Given the description of an element on the screen output the (x, y) to click on. 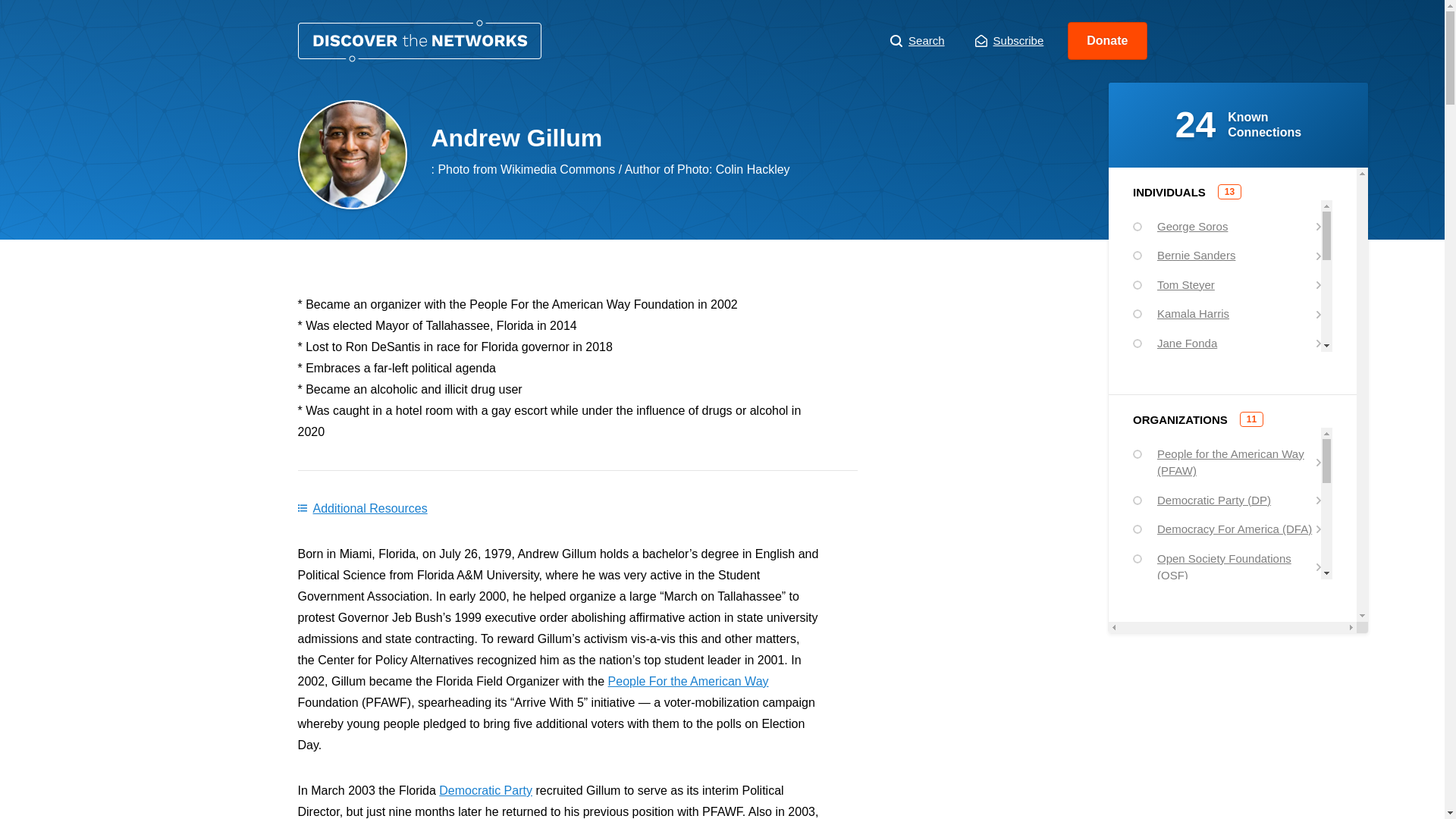
Subscribe (1009, 40)
Additional Resources (361, 508)
People For the American Way (688, 680)
Democratic Party (485, 789)
Search (916, 40)
Donate (1107, 40)
Andrew Gillum (418, 40)
